Given the description of an element on the screen output the (x, y) to click on. 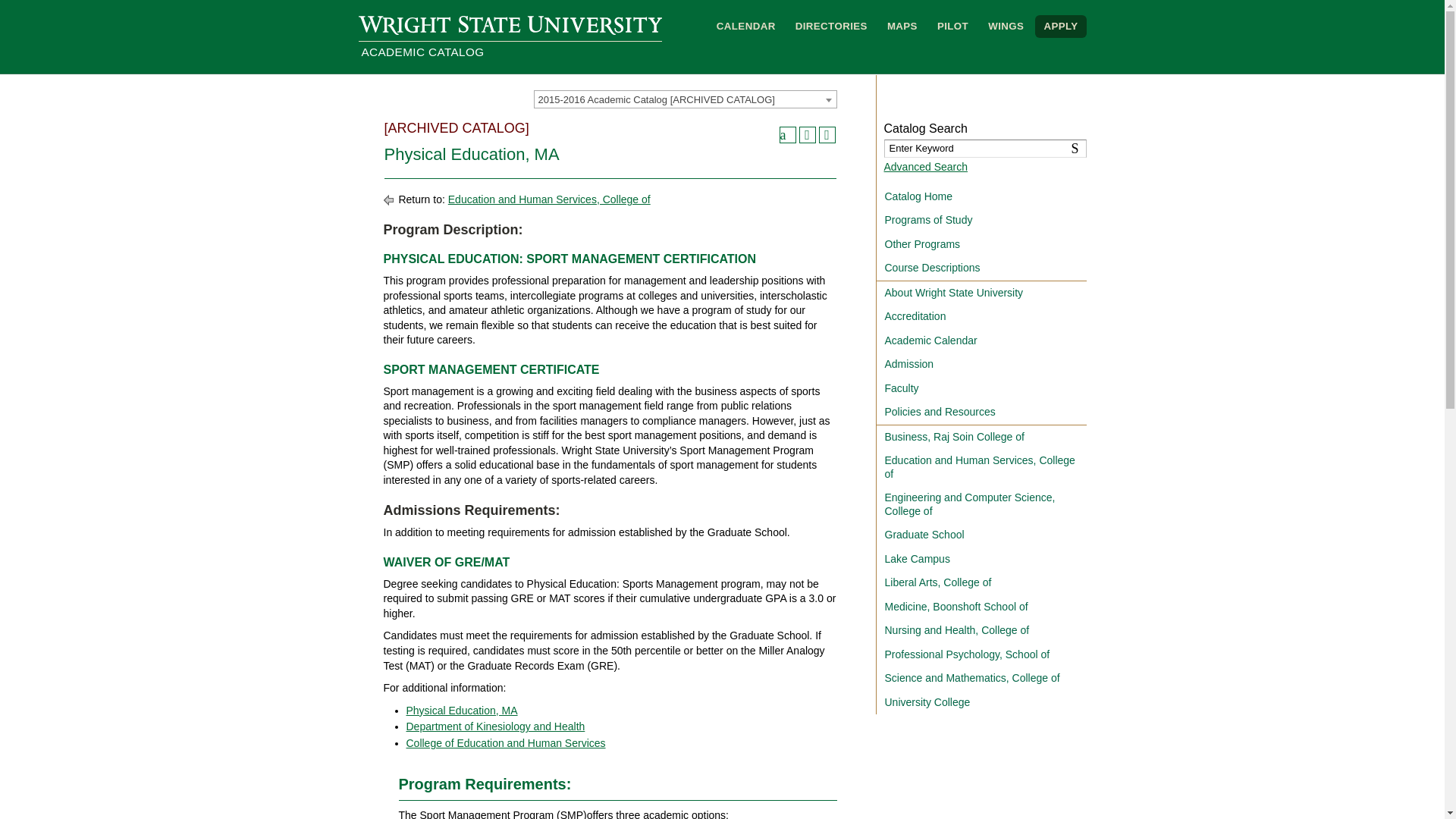
MAPS (901, 25)
Search Keyword Field, required (984, 148)
College of Education and Human Services (505, 743)
Department of Kinesiology and Health (495, 726)
WINGS (1005, 25)
Enter Keyword   (984, 148)
Wright State University (509, 23)
Education and Human Services, College of (549, 199)
a (787, 134)
PILOT (952, 25)
APPLY (1060, 25)
Select a Catalog (685, 99)
ACADEMIC CATALOG (509, 53)
DIRECTORIES (830, 25)
